Given the description of an element on the screen output the (x, y) to click on. 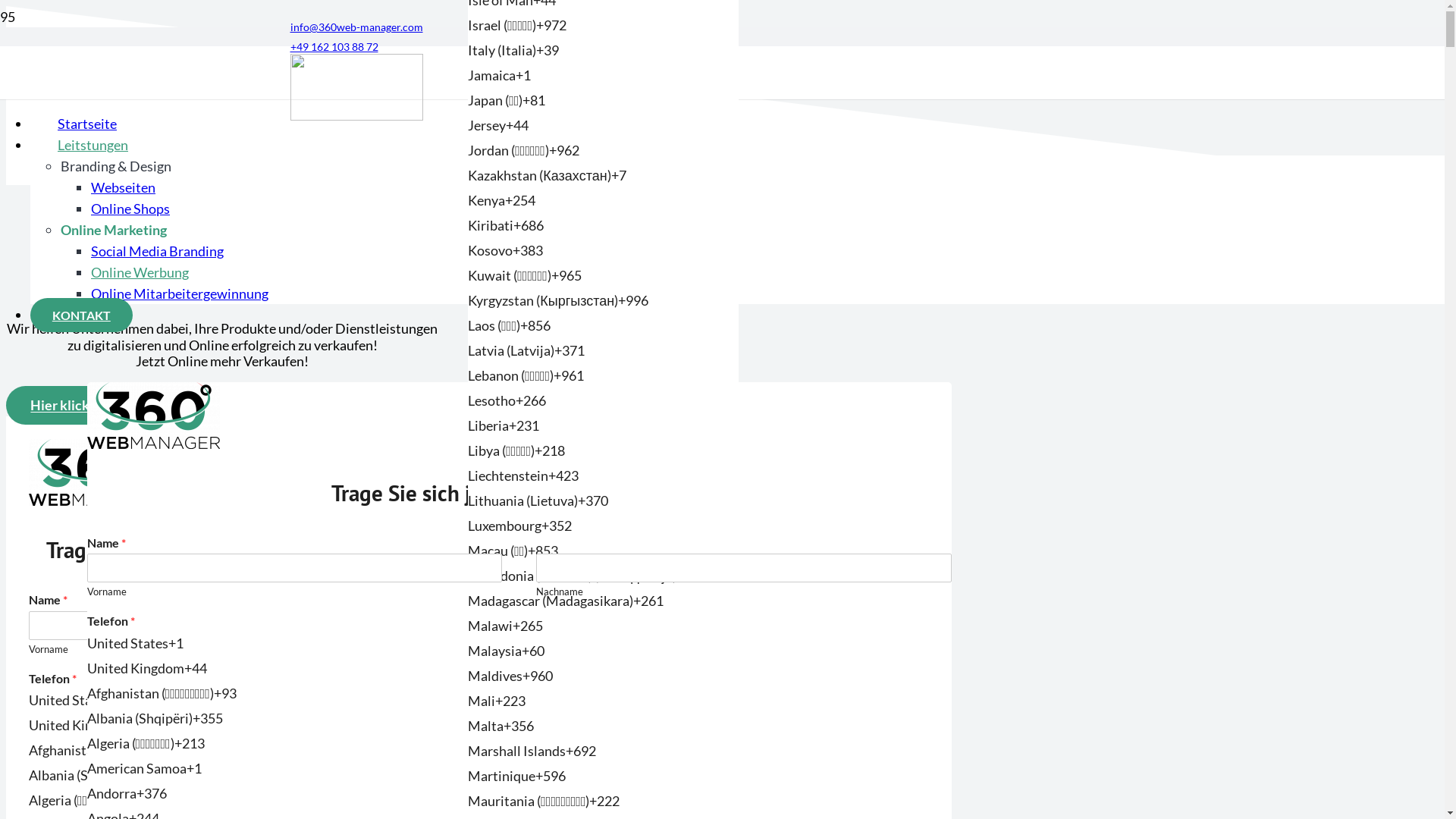
KONTAKT Element type: text (81, 315)
Hier klicken und einen Termin Vereinbaren! Element type: text (161, 404)
Branding & Design Element type: text (115, 165)
+49 162 103 88 72 Element type: text (333, 45)
Social Media Branding Element type: text (157, 250)
Startseite Element type: text (87, 123)
Leitstungen Element type: text (92, 144)
Online Mitarbeitergewinnung Element type: text (179, 293)
Online Werbung Element type: text (139, 271)
info@360web-manager.com Element type: text (355, 25)
Online Marketing Element type: text (113, 229)
Webseiten Element type: text (123, 186)
Online Shops Element type: text (130, 208)
